Given the description of an element on the screen output the (x, y) to click on. 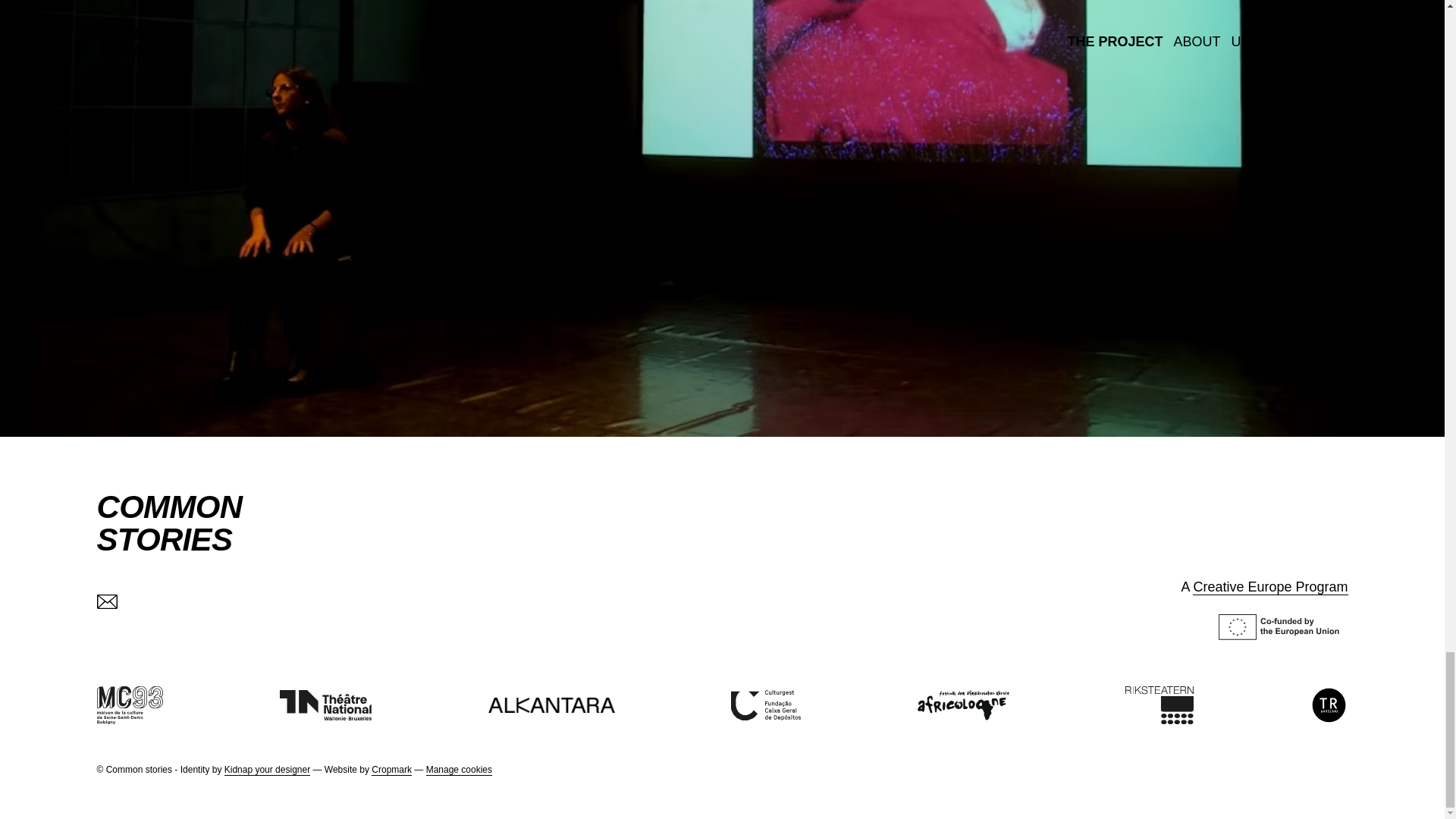
Creative Europe Program (1270, 587)
Kidnap your designer (170, 522)
